Given the description of an element on the screen output the (x, y) to click on. 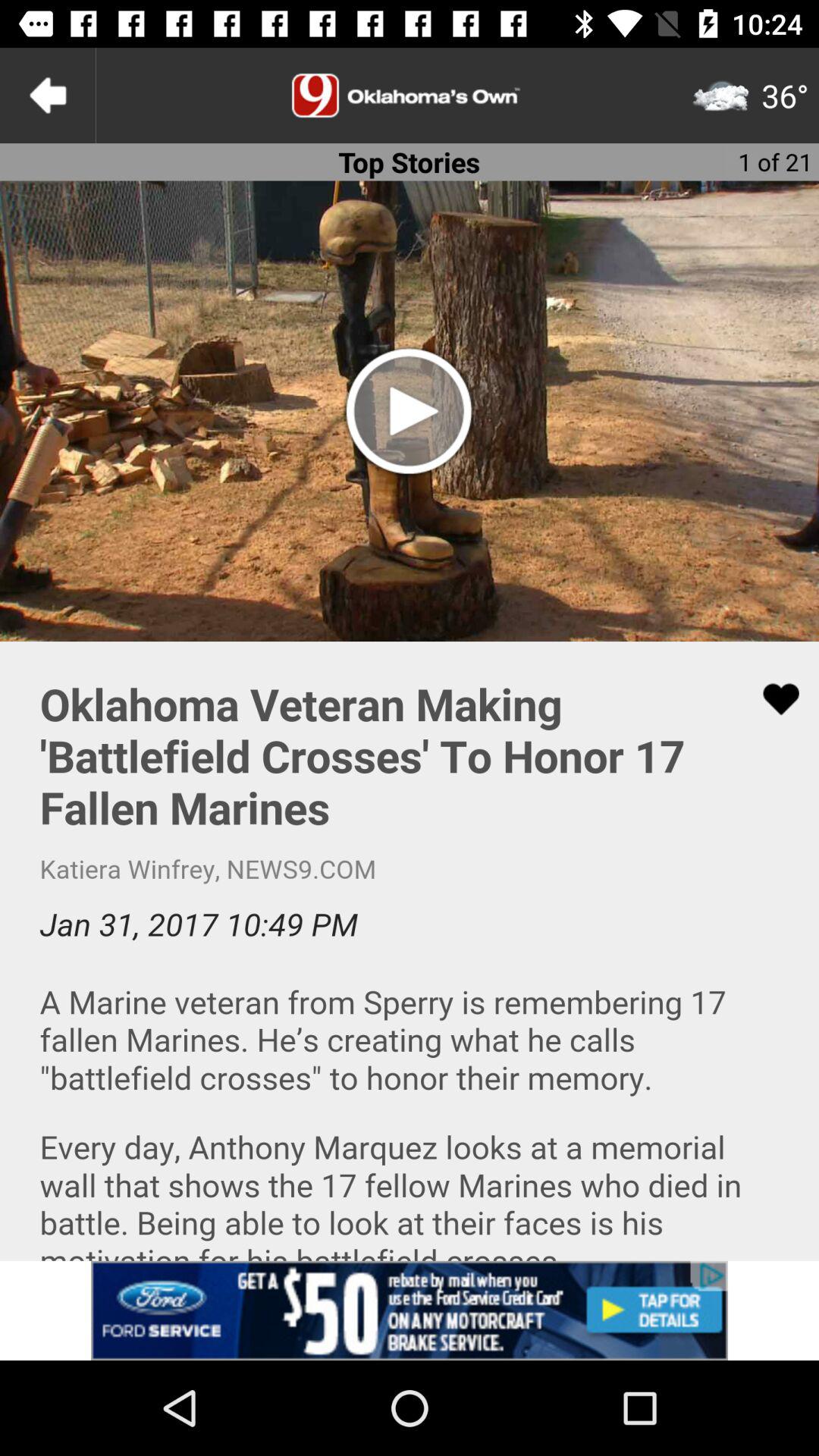
news article (409, 950)
